Given the description of an element on the screen output the (x, y) to click on. 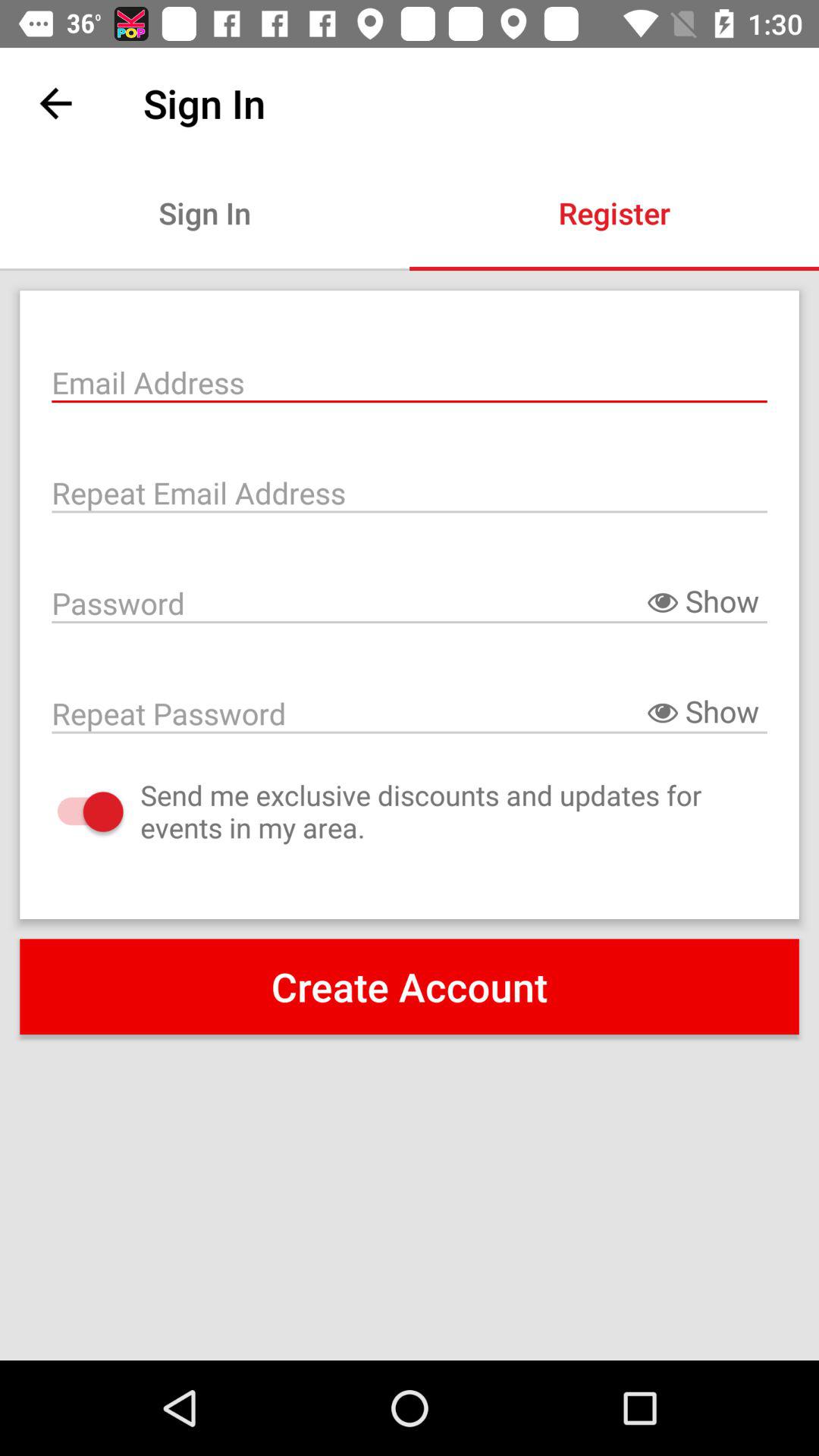
previous (55, 103)
